Given the description of an element on the screen output the (x, y) to click on. 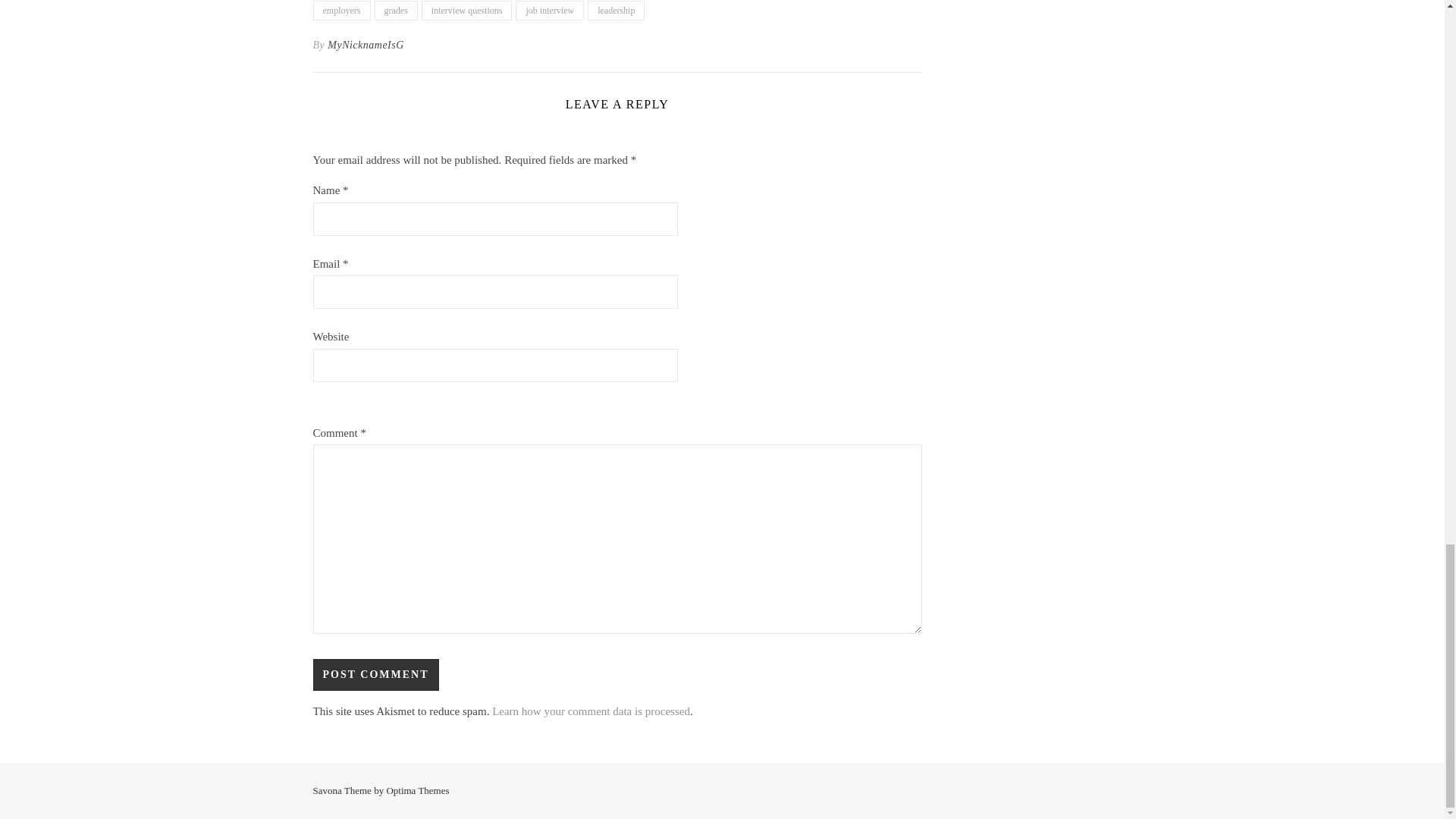
leadership (616, 10)
interview questions (467, 10)
Posts by MyNicknameIsG (365, 45)
MyNicknameIsG (365, 45)
grades (395, 10)
Learn how your comment data is processed (591, 711)
Post Comment (375, 675)
Post Comment (375, 675)
Optima Themes (416, 790)
employers (341, 10)
